Given the description of an element on the screen output the (x, y) to click on. 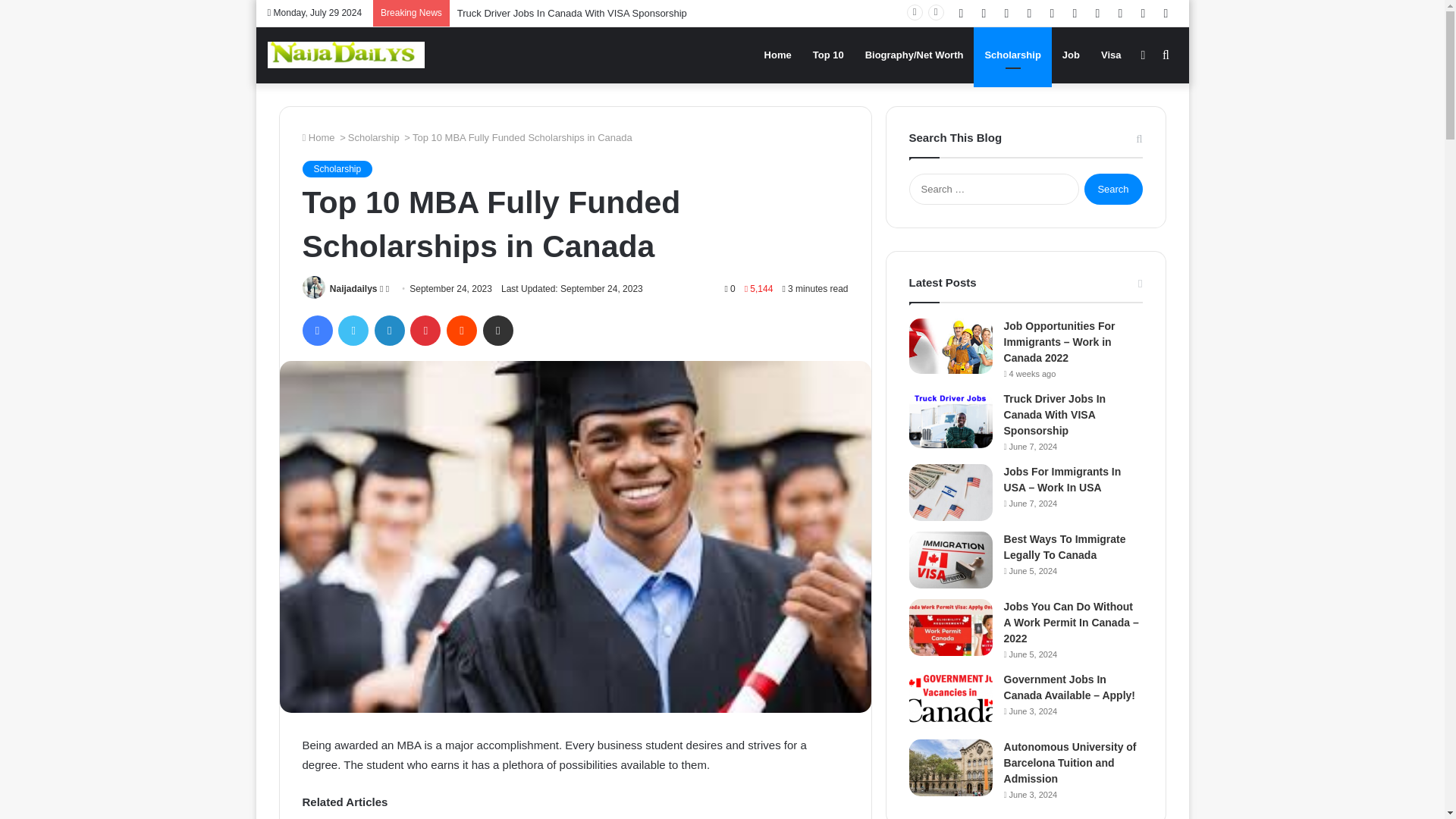
LinkedIn (389, 330)
Share via Email (498, 330)
Facebook (316, 330)
Scholarship (372, 137)
Scholarship (336, 168)
Search (1113, 188)
Share via Email (498, 330)
Pinterest (425, 330)
LinkedIn (389, 330)
Twitter (352, 330)
Reddit (461, 330)
Naijadailys (353, 288)
Home (317, 137)
Twitter (352, 330)
Search (1113, 188)
